Given the description of an element on the screen output the (x, y) to click on. 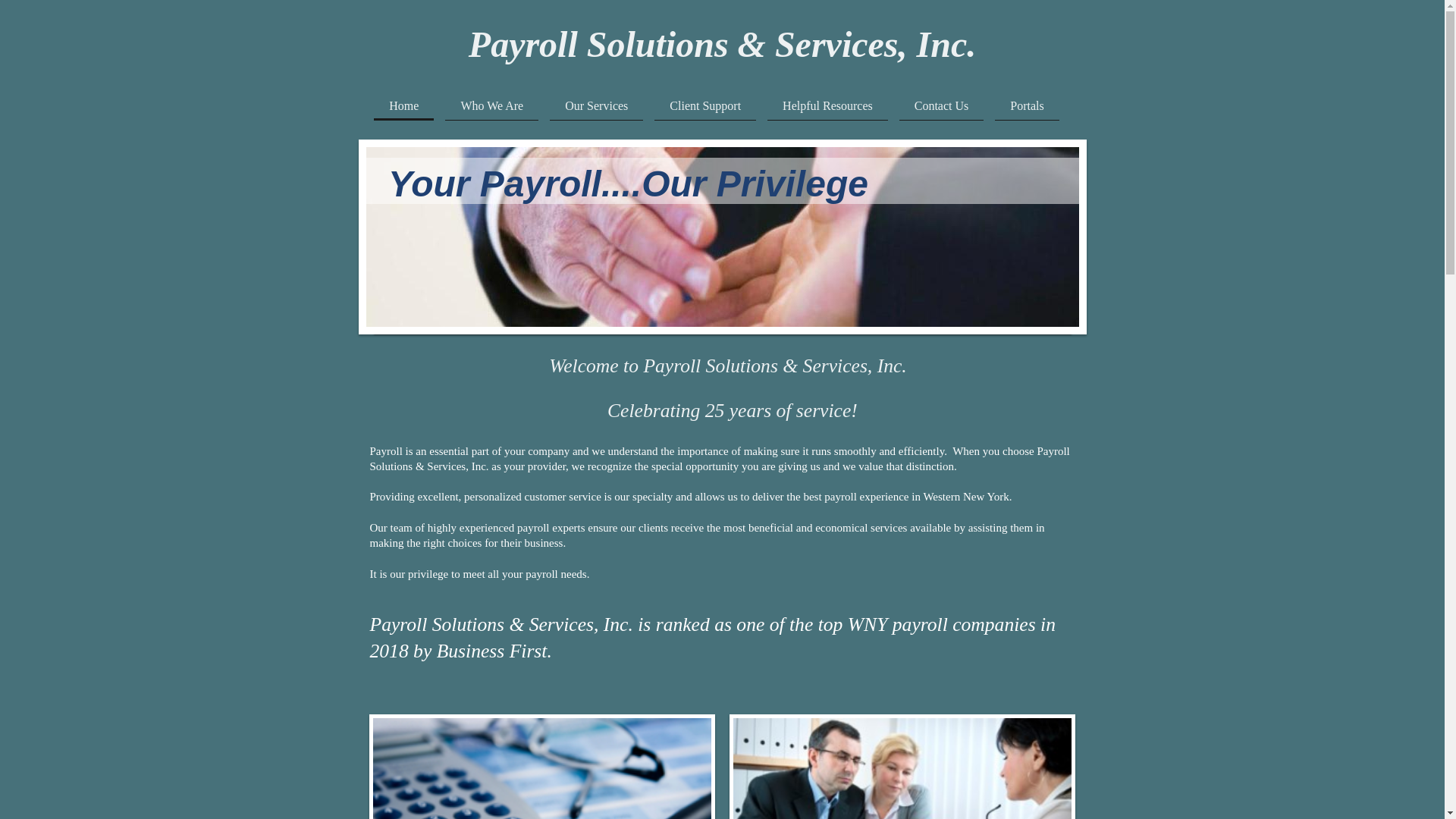
Your Payroll....Our Privilege (627, 183)
Home (403, 105)
Who We Are (491, 105)
Our Services (596, 105)
Contact Us (941, 105)
Client Support (704, 105)
Helpful Resources (827, 105)
Portals (1026, 105)
